Given the description of an element on the screen output the (x, y) to click on. 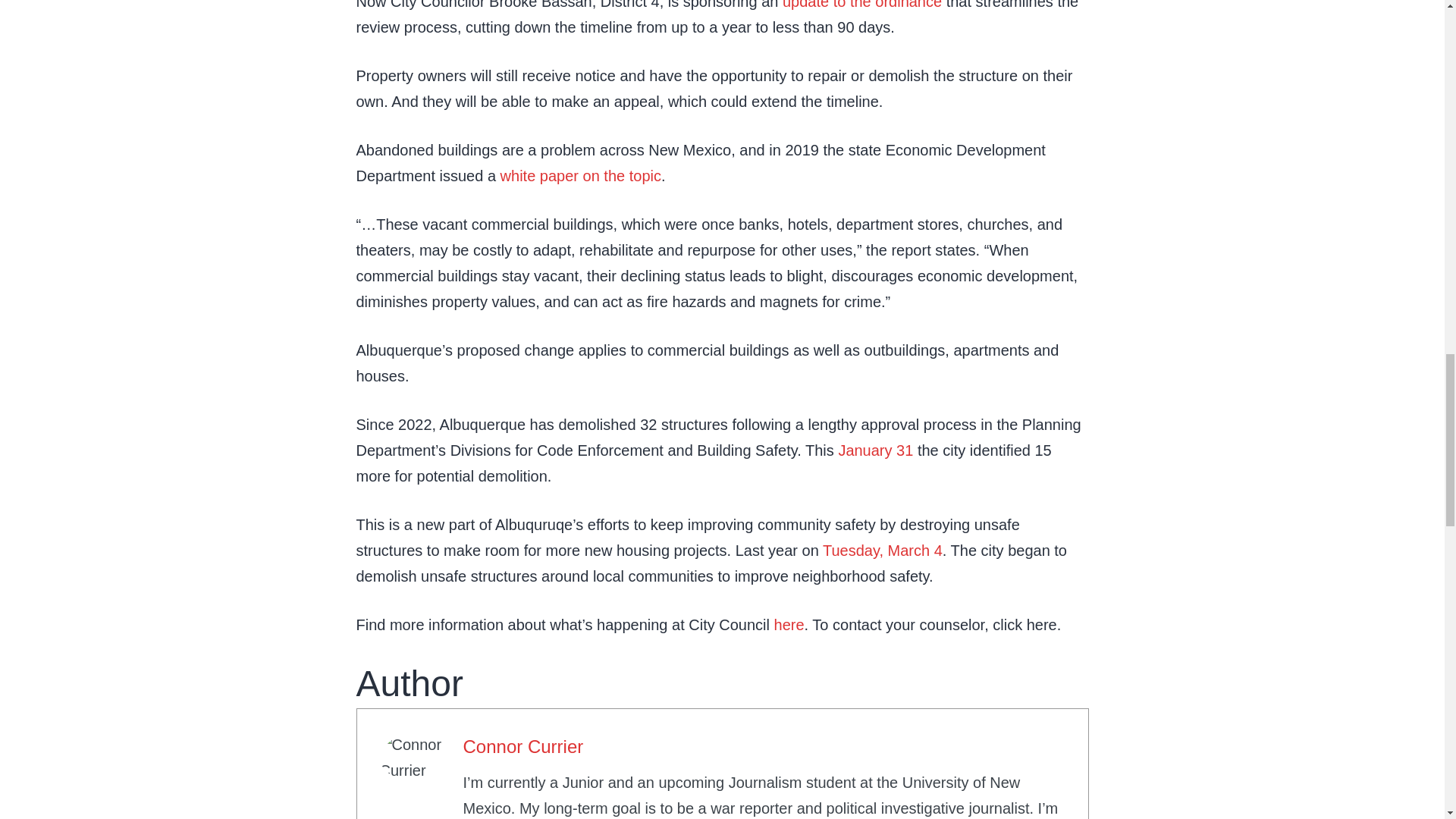
here (789, 624)
Connor Currier (523, 746)
Connor Currier (523, 746)
update to the ordinance (862, 4)
January 31 (875, 450)
white paper on the topic (580, 175)
Tuesday, March 4 (882, 550)
